Given the description of an element on the screen output the (x, y) to click on. 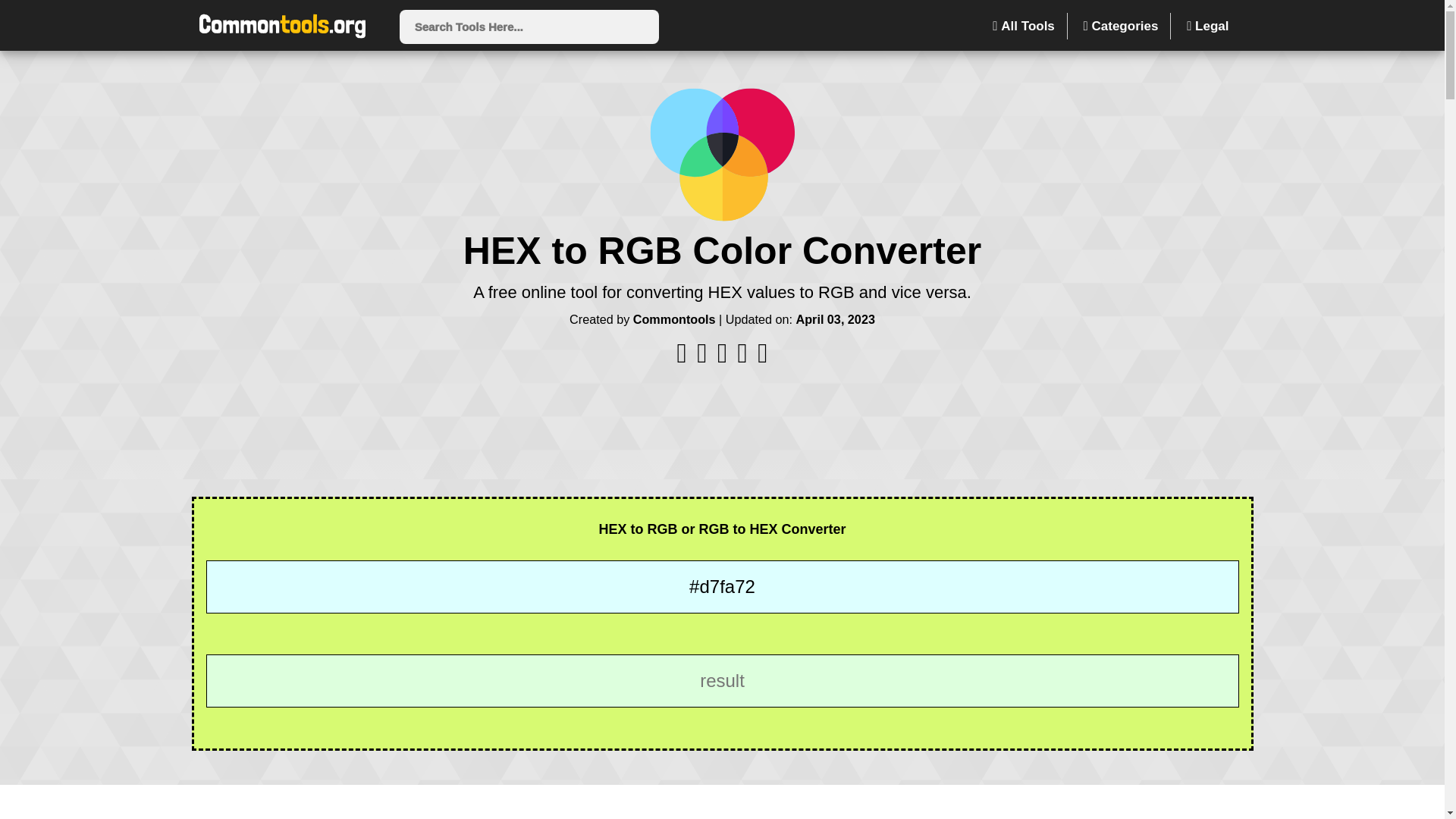
Advertisement (721, 427)
Legal (1207, 26)
Commontools.org Logo (281, 26)
Share on Linkedin (744, 357)
Advertisement (721, 805)
Share on Twitter (723, 357)
HEX to RGB Color Converter (721, 154)
Commontools (673, 318)
All Tools (1023, 26)
Categories (1121, 26)
Share on Facebook (683, 357)
